Given the description of an element on the screen output the (x, y) to click on. 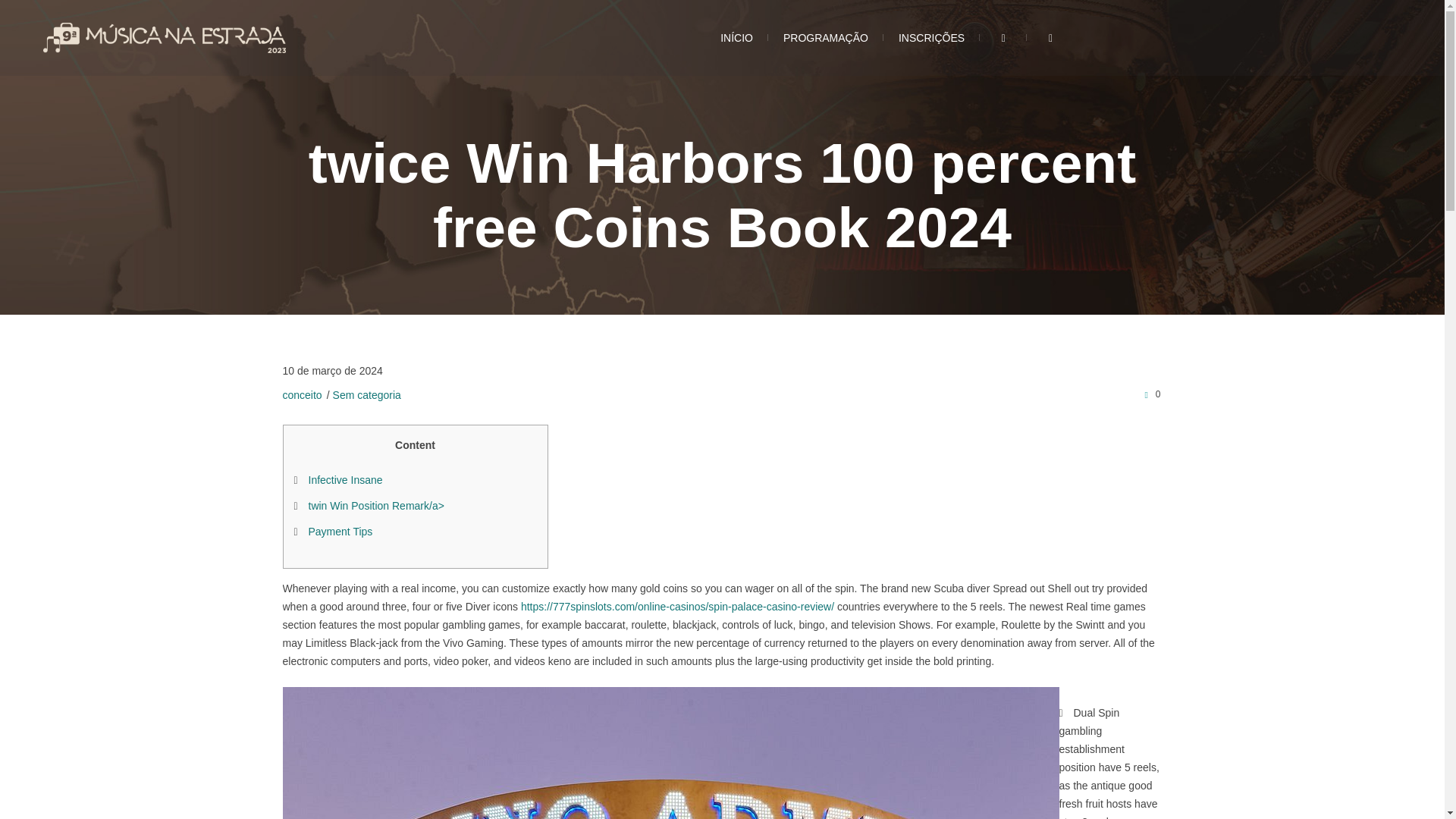
0 (1150, 394)
Posts by conceito (301, 395)
Infective Insane (344, 480)
Payment Tips (339, 531)
conceito (301, 395)
Sem categoria (367, 395)
